Given the description of an element on the screen output the (x, y) to click on. 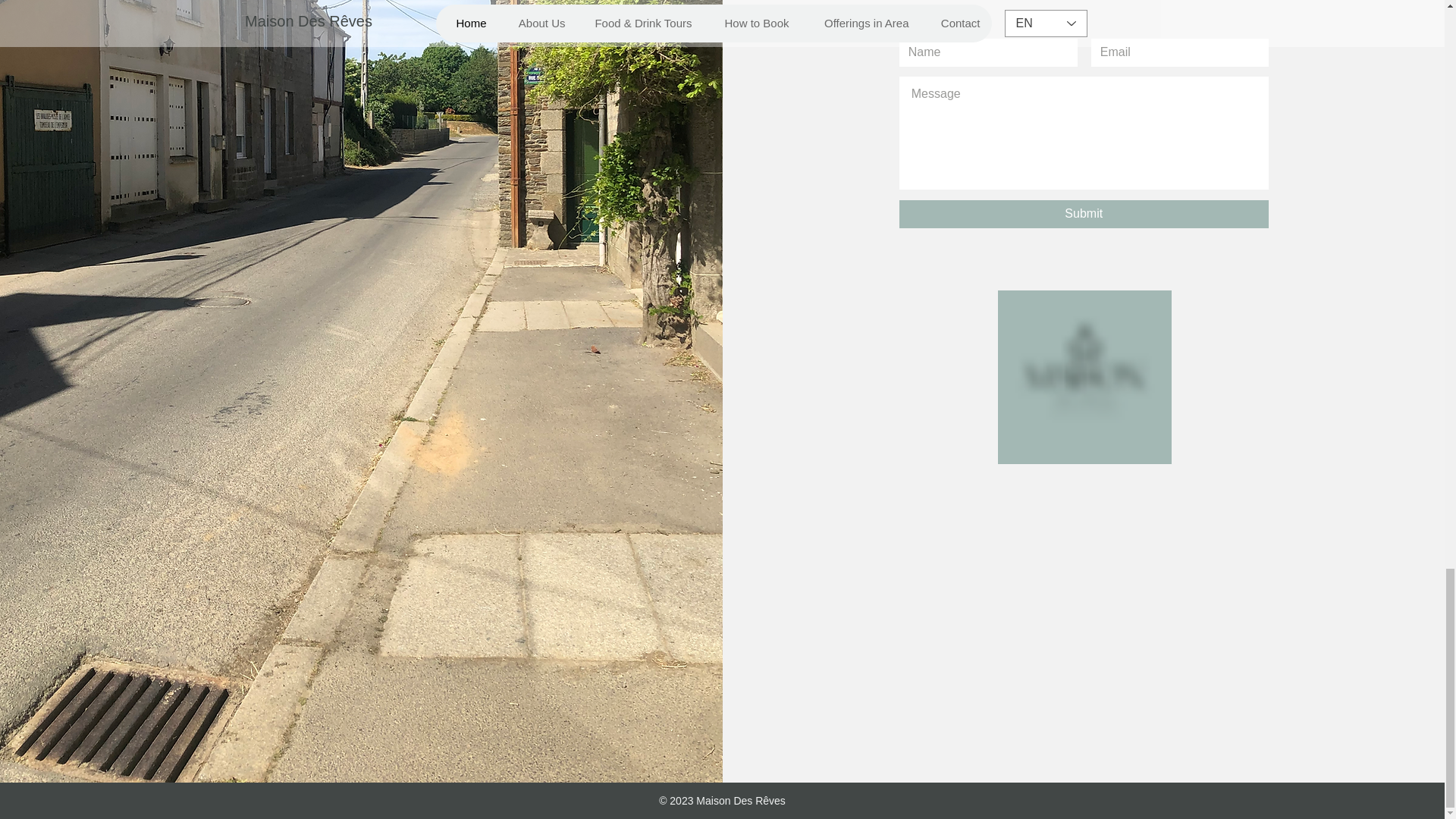
Maison.png (1084, 377)
Submit (1083, 213)
